Given the description of an element on the screen output the (x, y) to click on. 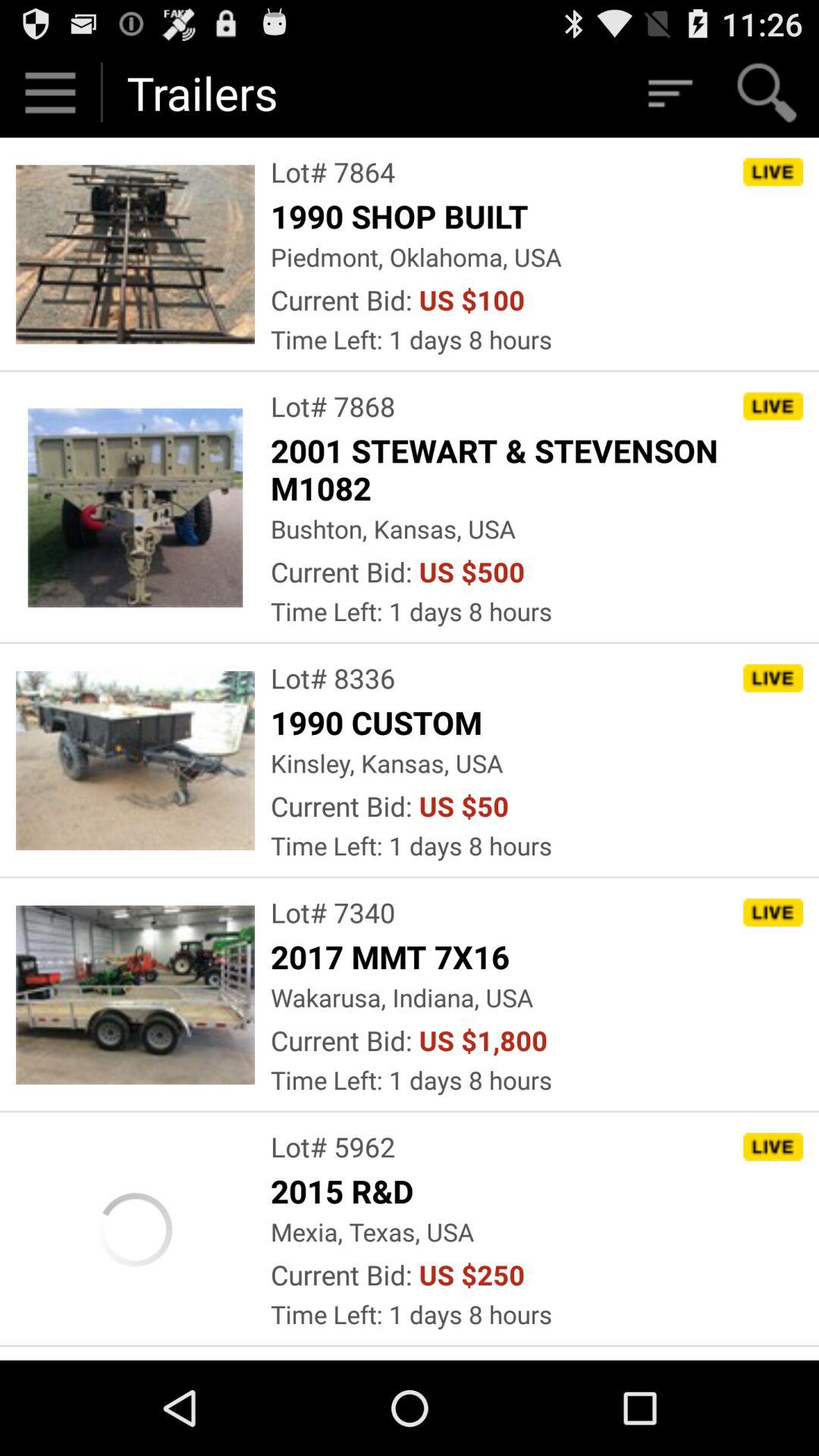
click icon above the 1990 custom  icon (332, 677)
